Given the description of an element on the screen output the (x, y) to click on. 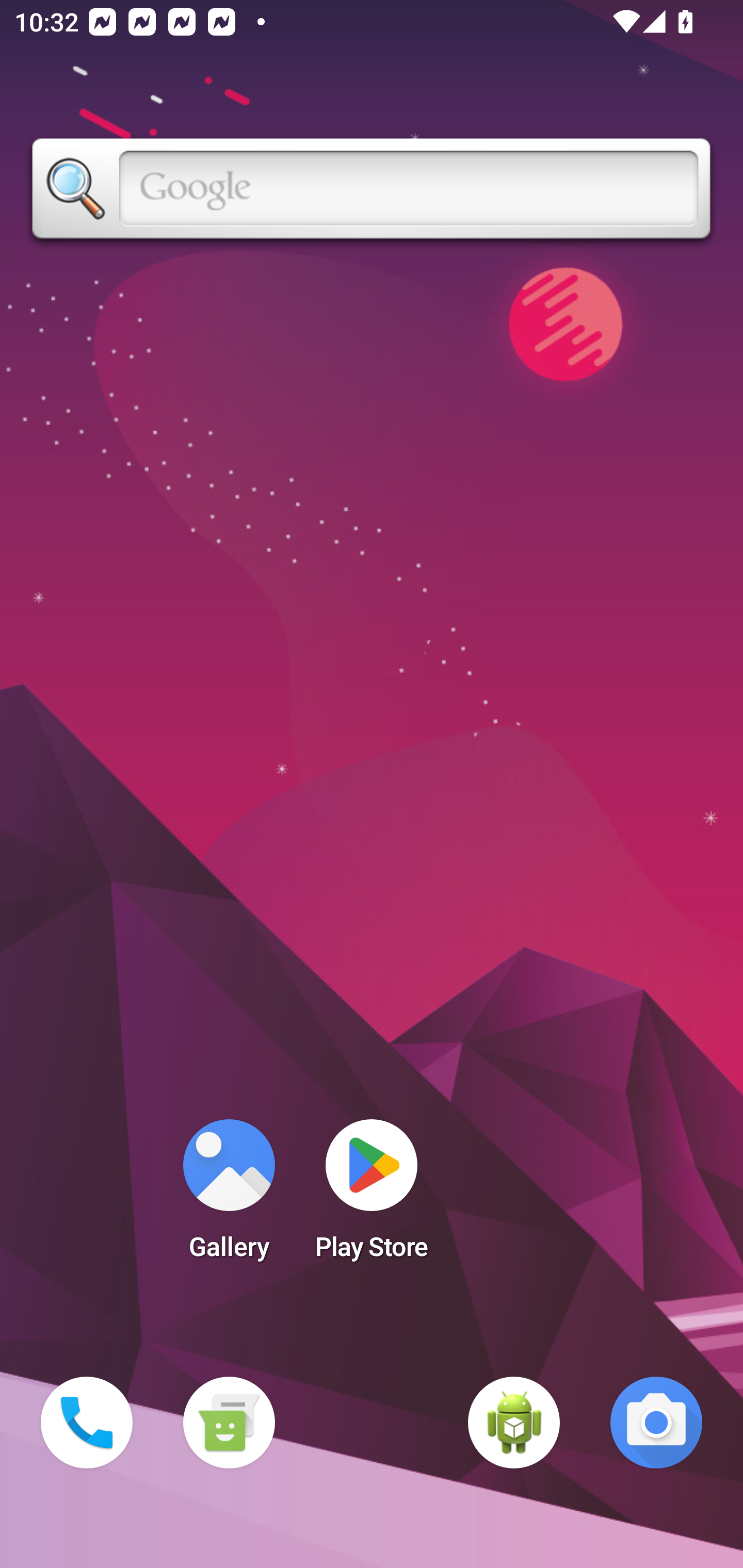
Gallery (228, 1195)
Play Store (371, 1195)
Phone (86, 1422)
Messaging (228, 1422)
WebView Browser Tester (513, 1422)
Camera (656, 1422)
